Given the description of an element on the screen output the (x, y) to click on. 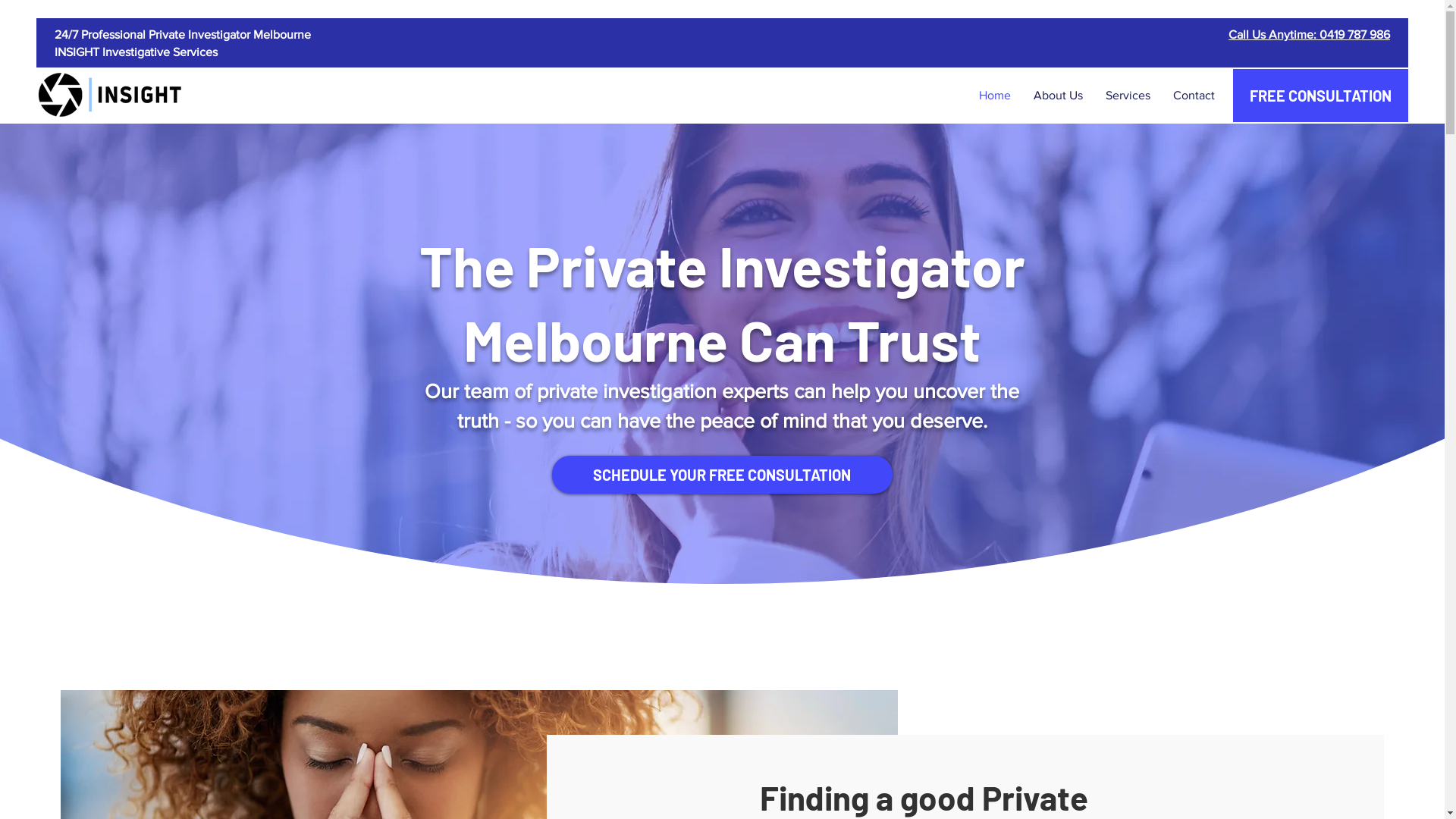
Contact Element type: text (1193, 95)
Home Element type: text (994, 95)
About Us Element type: text (1058, 95)
Call Us Anytime: 0419 787 986 Element type: text (1309, 34)
FREE CONSULTATION Element type: text (1320, 95)
SCHEDULE YOUR FREE CONSULTATION Element type: text (722, 474)
Services Element type: text (1127, 95)
